Given the description of an element on the screen output the (x, y) to click on. 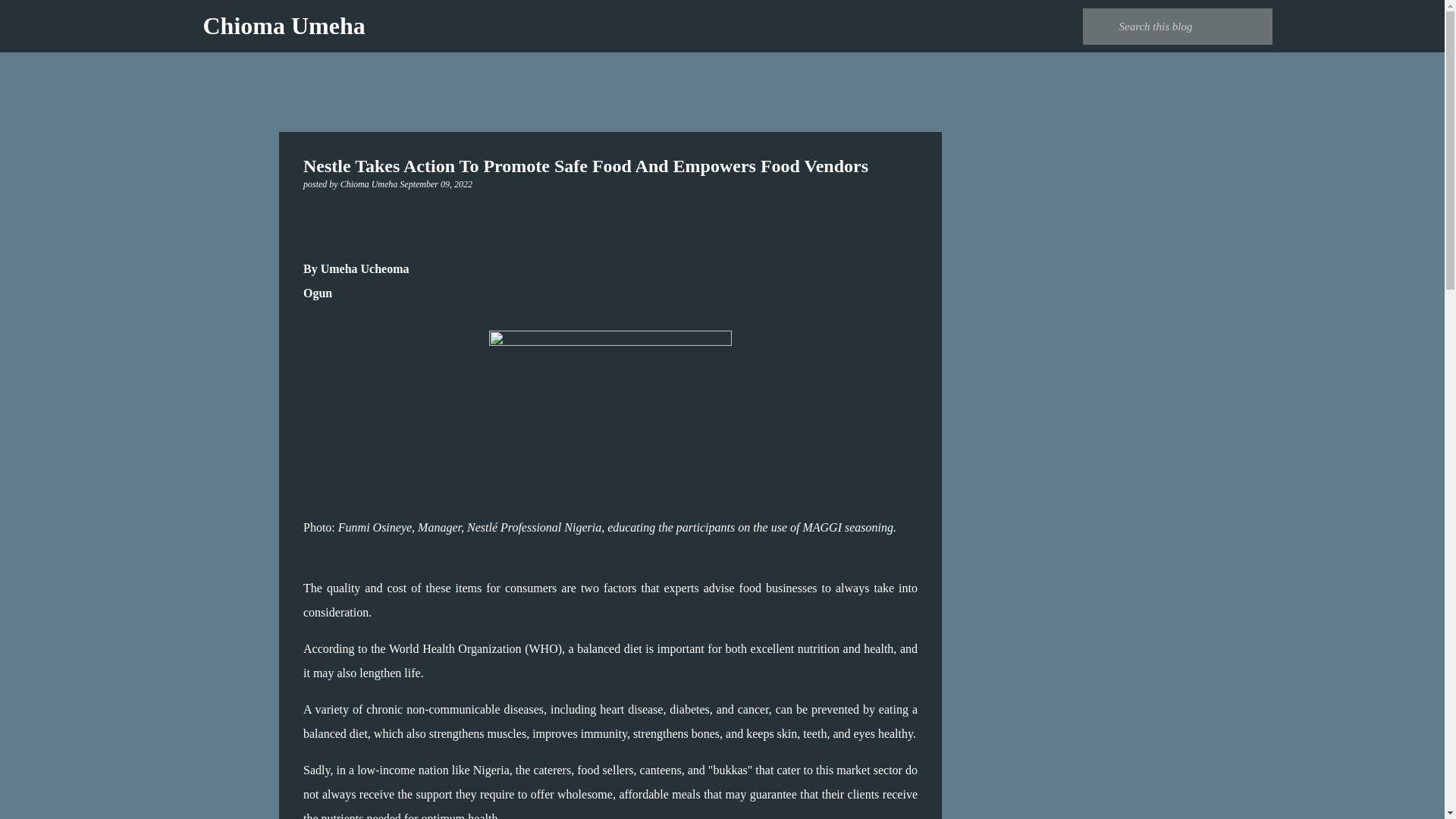
Chioma Umeha (370, 184)
author profile (370, 184)
September 09, 2022 (434, 184)
permanent link (434, 184)
Chioma Umeha (284, 25)
